Given the description of an element on the screen output the (x, y) to click on. 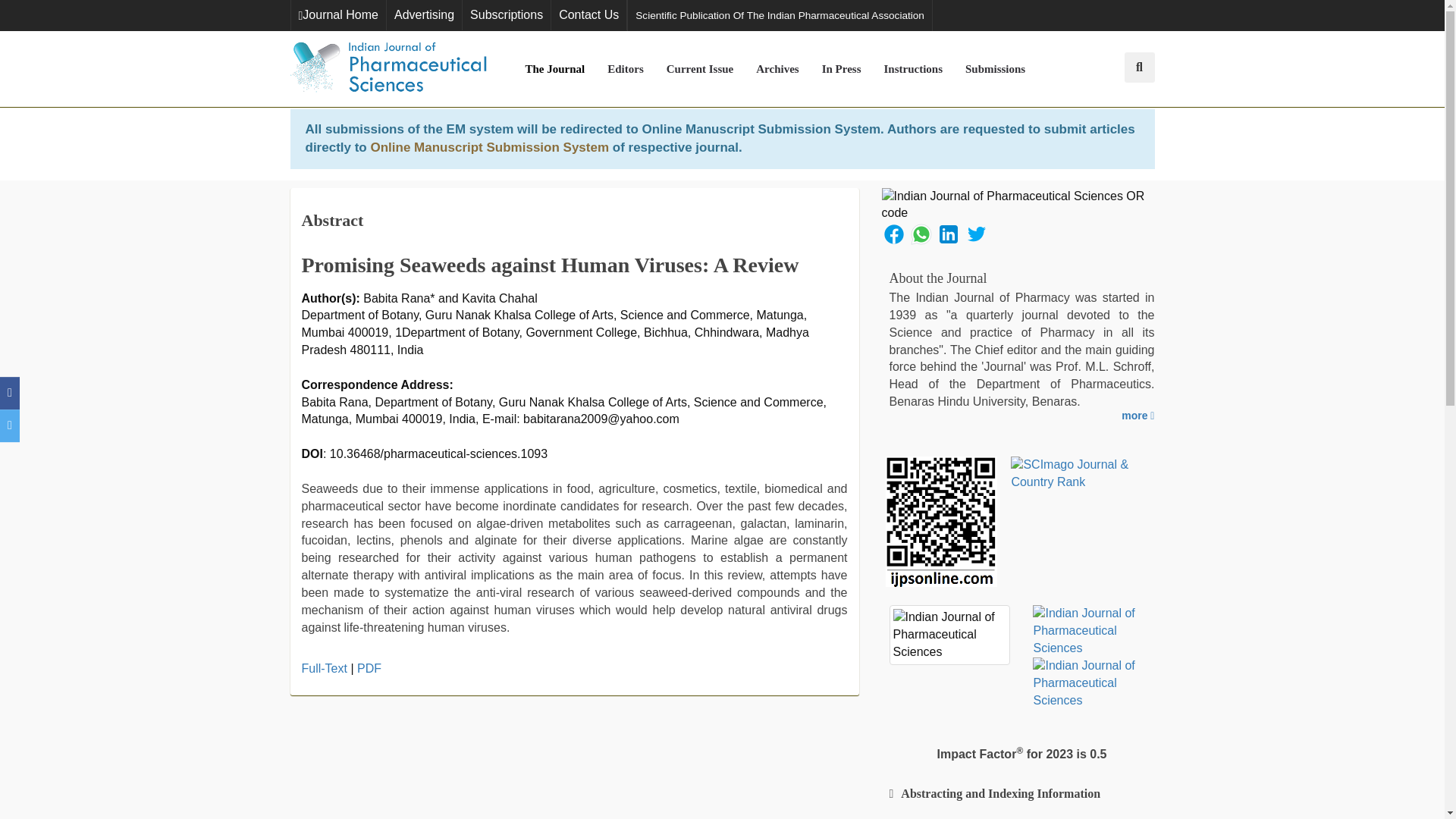
PDF (368, 667)
Full-Text (324, 667)
Full-Text (324, 667)
Contact Us (588, 15)
QR (1017, 205)
Indian Journal of Pharmaceutical Sciences (387, 68)
Contact Us (588, 15)
Subscriptions (506, 15)
Advertising (424, 15)
Subscriptions (506, 15)
